Given the description of an element on the screen output the (x, y) to click on. 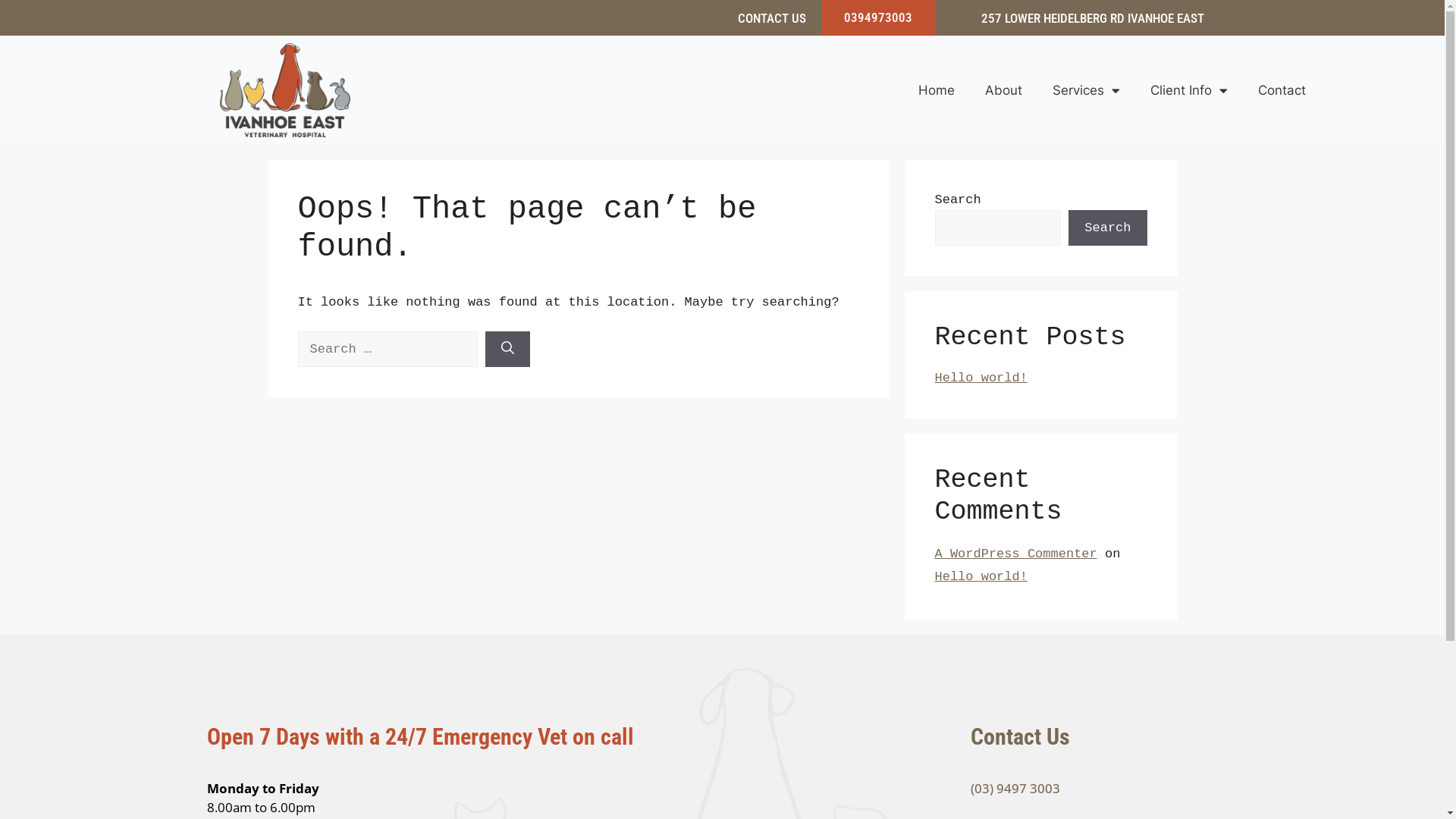
257 LOWER HEIDELBERG RD IVANHOE EAST Element type: text (1092, 17)
Client Info Element type: text (1188, 89)
0394973003 Element type: text (878, 17)
Contact Element type: text (1281, 89)
CONTACT US Element type: text (771, 17)
Open 7 Days with a 24/7 Emergency Vet on call Element type: text (419, 736)
Hello world! Element type: text (980, 576)
(03) 9497 3003 Element type: text (1015, 788)
About Element type: text (1003, 89)
Services Element type: text (1086, 89)
A WordPress Commenter Element type: text (1015, 553)
Search for: Element type: hover (386, 349)
Hello world! Element type: text (980, 377)
Home Element type: text (936, 89)
Search Element type: text (1107, 227)
